Given the description of an element on the screen output the (x, y) to click on. 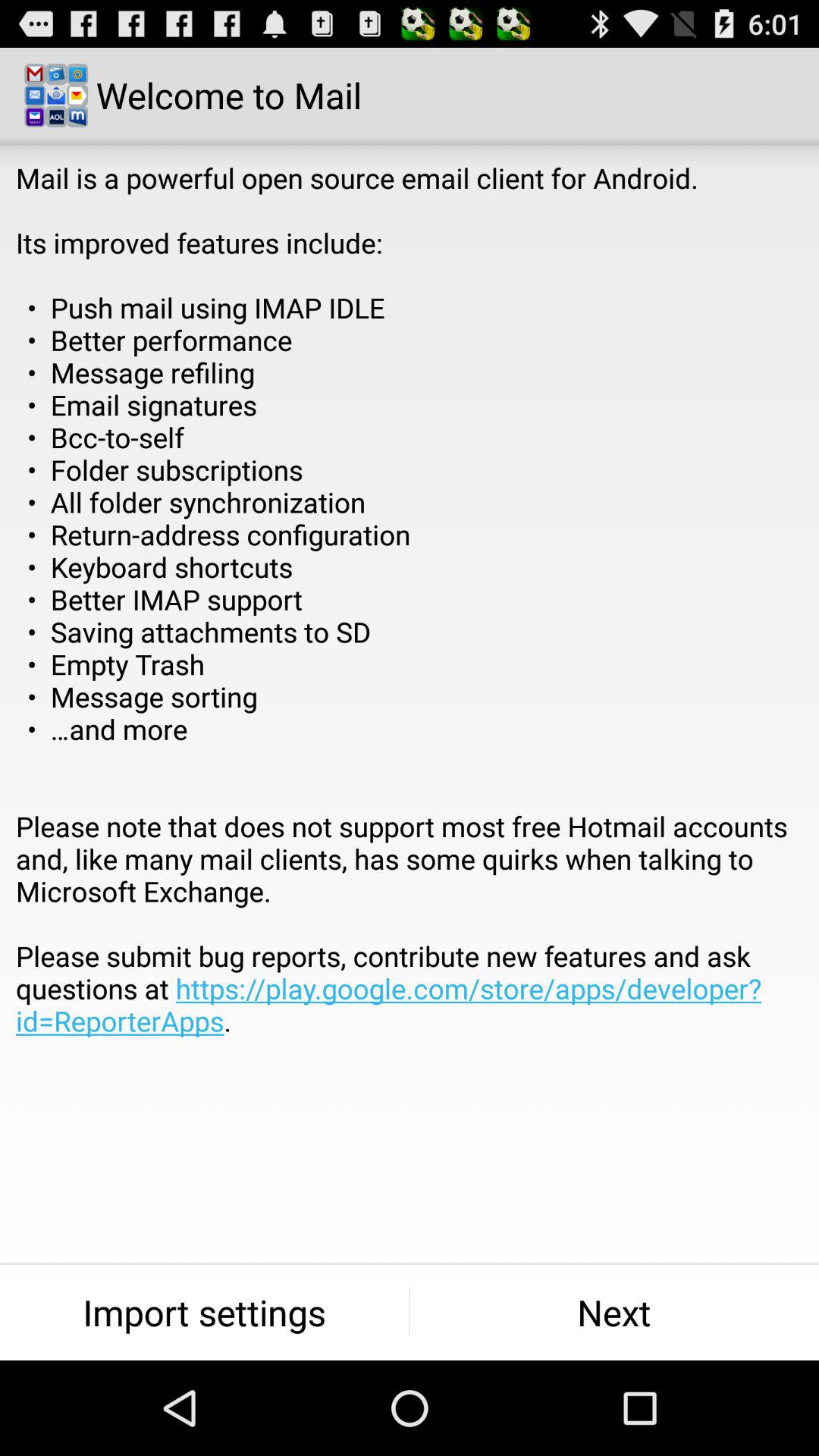
scroll until the next (614, 1312)
